Given the description of an element on the screen output the (x, y) to click on. 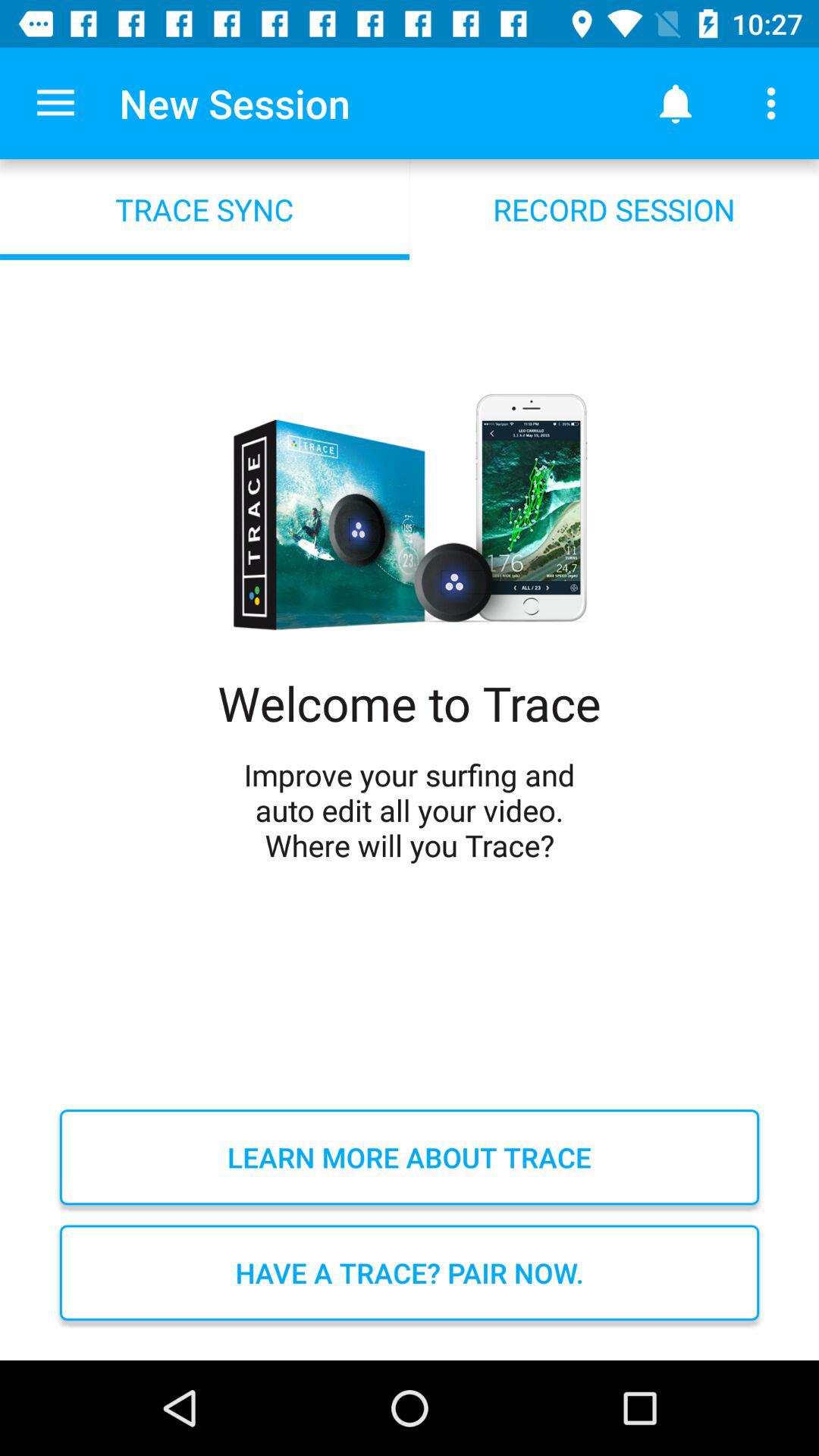
swipe to have a trace item (409, 1272)
